Given the description of an element on the screen output the (x, y) to click on. 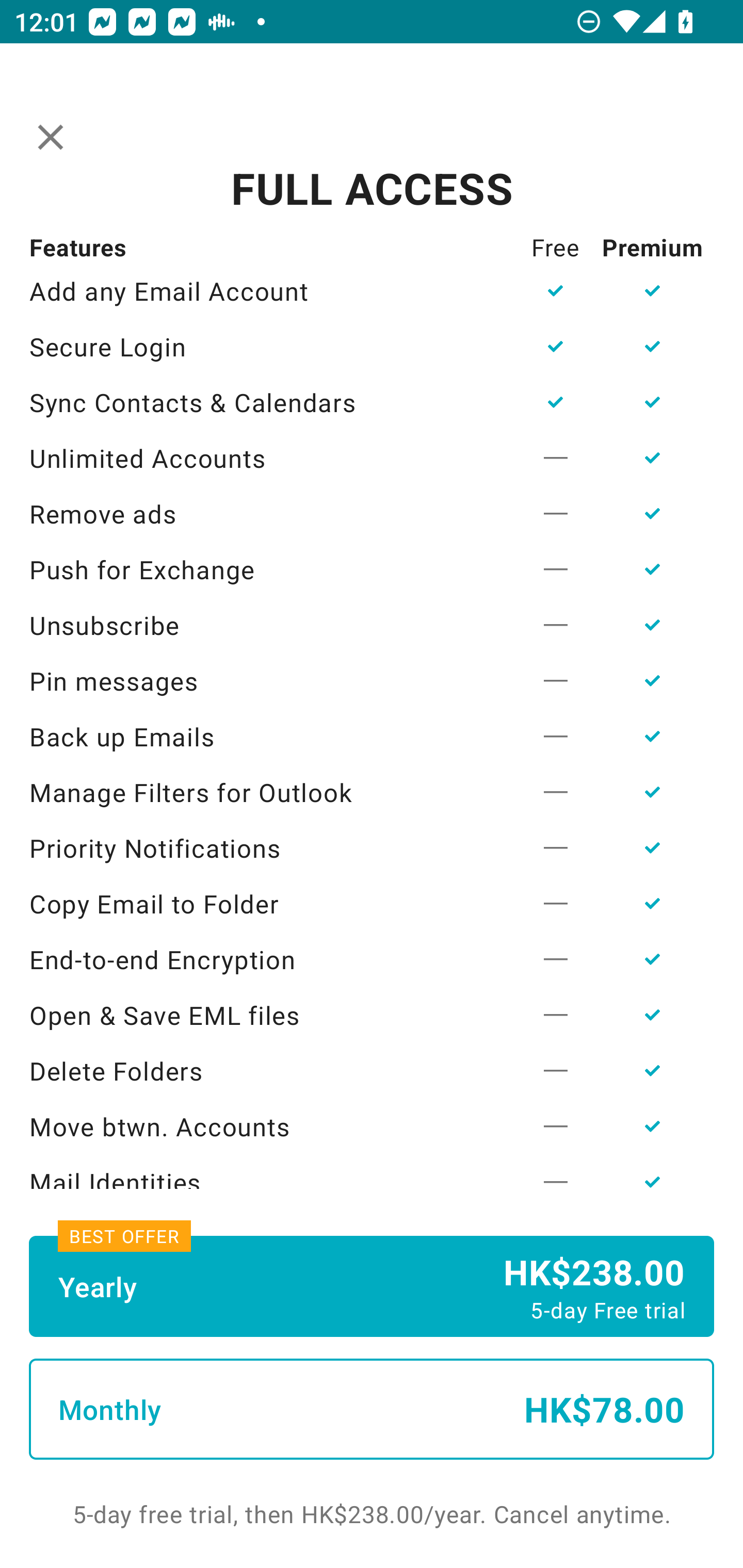
Yearly HK$238.00 5-day Free trial (371, 1286)
Monthly HK$78.00 (371, 1408)
